Given the description of an element on the screen output the (x, y) to click on. 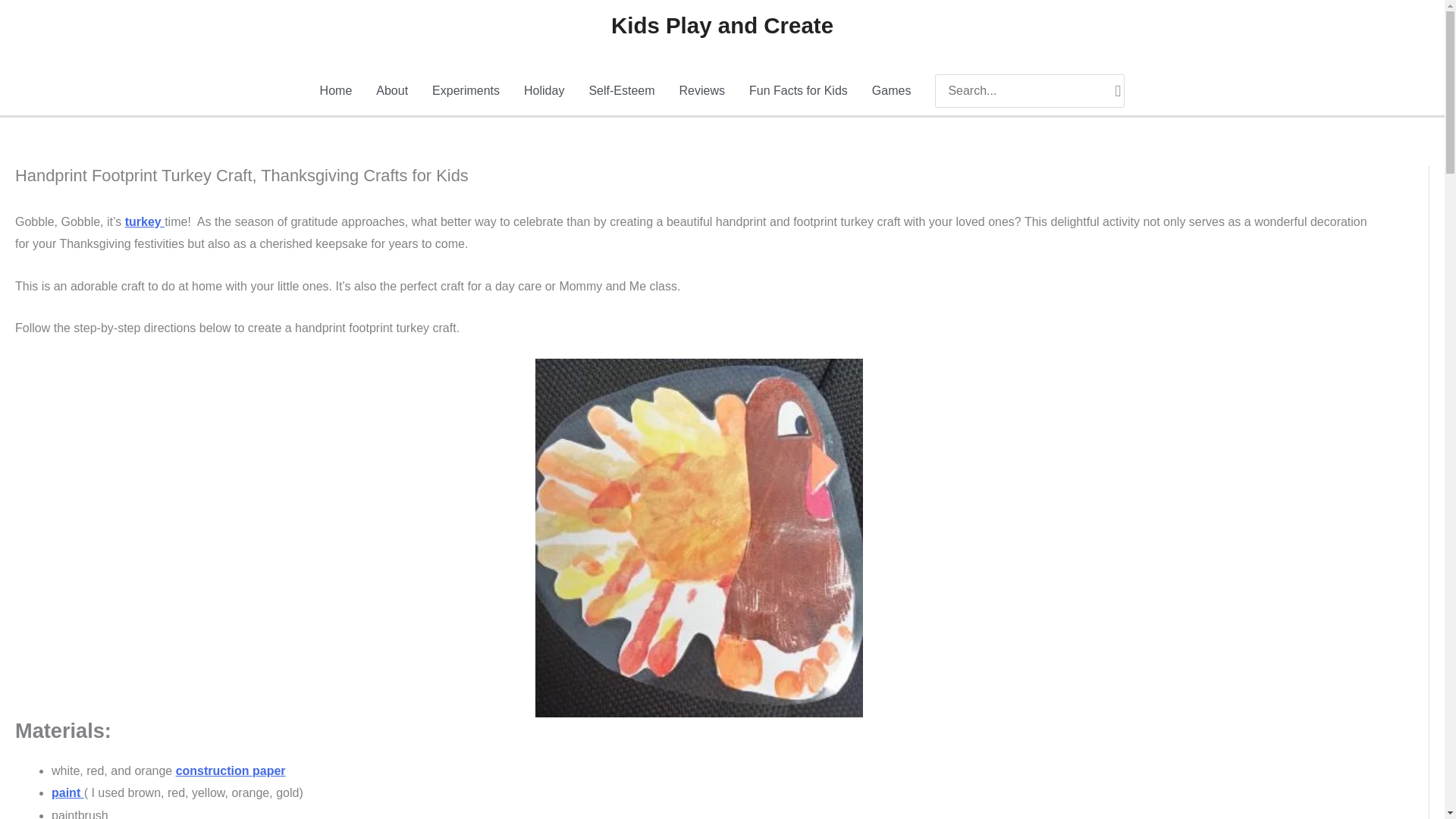
Holiday (544, 90)
Kids Play and Create (721, 25)
Experiments (466, 90)
Games (891, 90)
Fun Facts for Kids (798, 90)
Home (336, 90)
paint (67, 792)
About (392, 90)
Self-Esteem (621, 90)
construction paper (230, 770)
Search (1118, 91)
turkey (144, 221)
Reviews (701, 90)
